Given the description of an element on the screen output the (x, y) to click on. 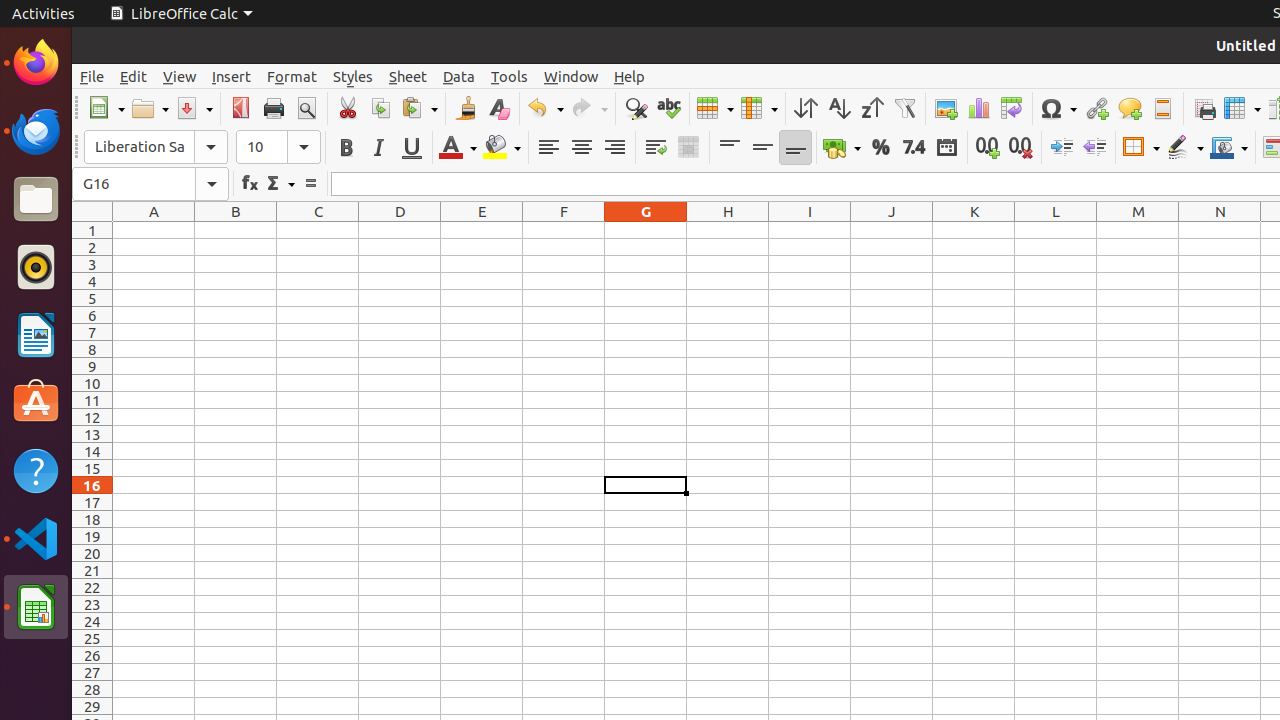
Comment Element type: push-button (1129, 108)
Wrap Text Element type: push-button (655, 147)
Print Preview Element type: toggle-button (306, 108)
Column Element type: push-button (759, 108)
Files Element type: push-button (36, 199)
